Given the description of an element on the screen output the (x, y) to click on. 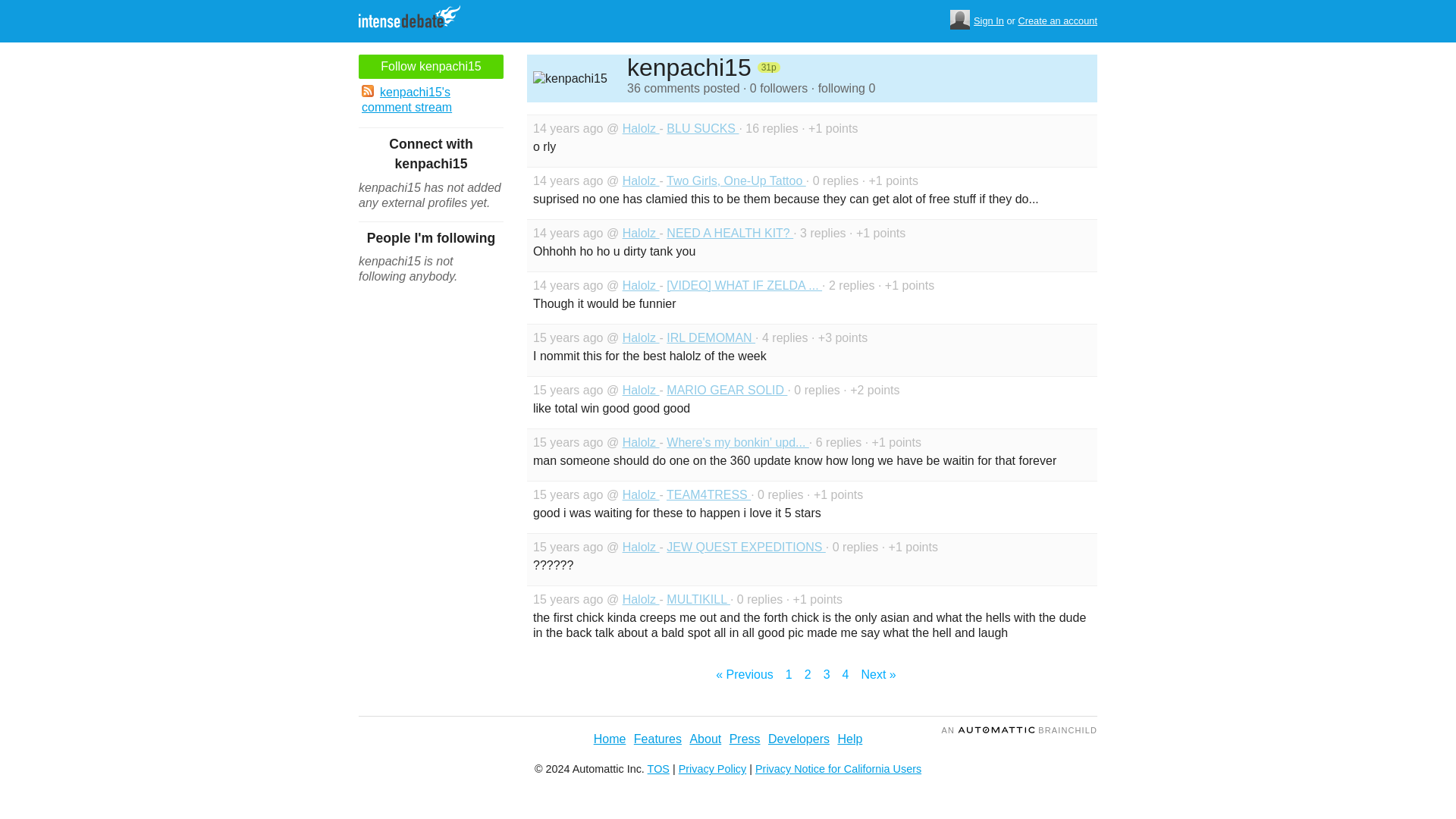
Halolz (641, 441)
Halolz (641, 232)
TEAM4TRESS (708, 494)
BLU SUCKS (702, 128)
Press (744, 738)
JEW QUEST EXPEDITIONS (745, 546)
IntenseDebate Comment System (414, 18)
Halolz (641, 180)
kenpachi15's comment stream (430, 99)
Sign In (989, 21)
Follow kenpachi15 (430, 66)
Developers (798, 738)
IRL DEMOMAN (710, 337)
Where's my bonkin' upd... (737, 441)
